Given the description of an element on the screen output the (x, y) to click on. 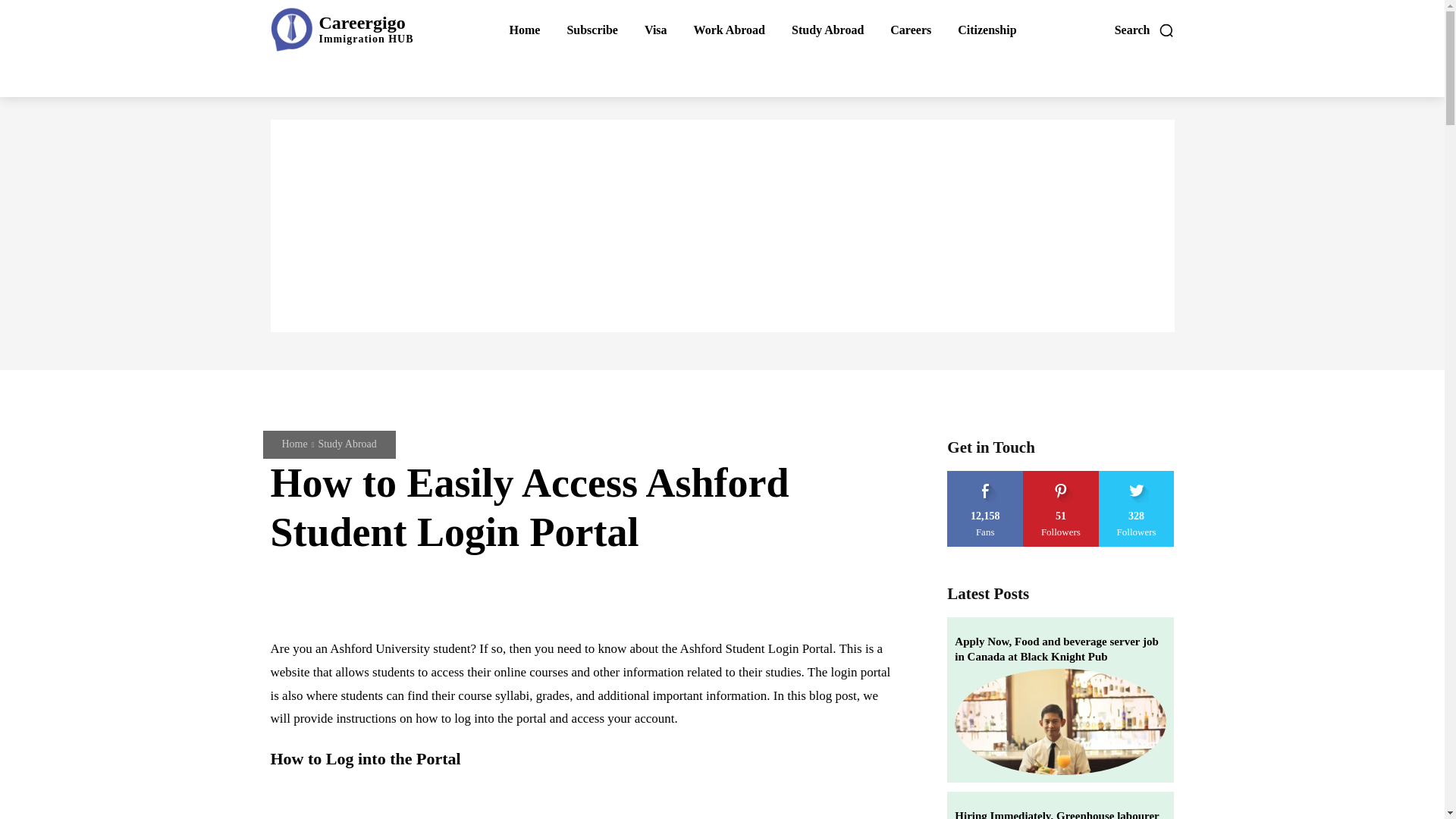
Home (341, 28)
Work Abroad (294, 443)
Advertisement (729, 30)
Citizenship (584, 798)
Search (986, 30)
Study Abroad (1144, 30)
Advertisement (827, 30)
View all posts in Study Abroad (591, 30)
